Given the description of an element on the screen output the (x, y) to click on. 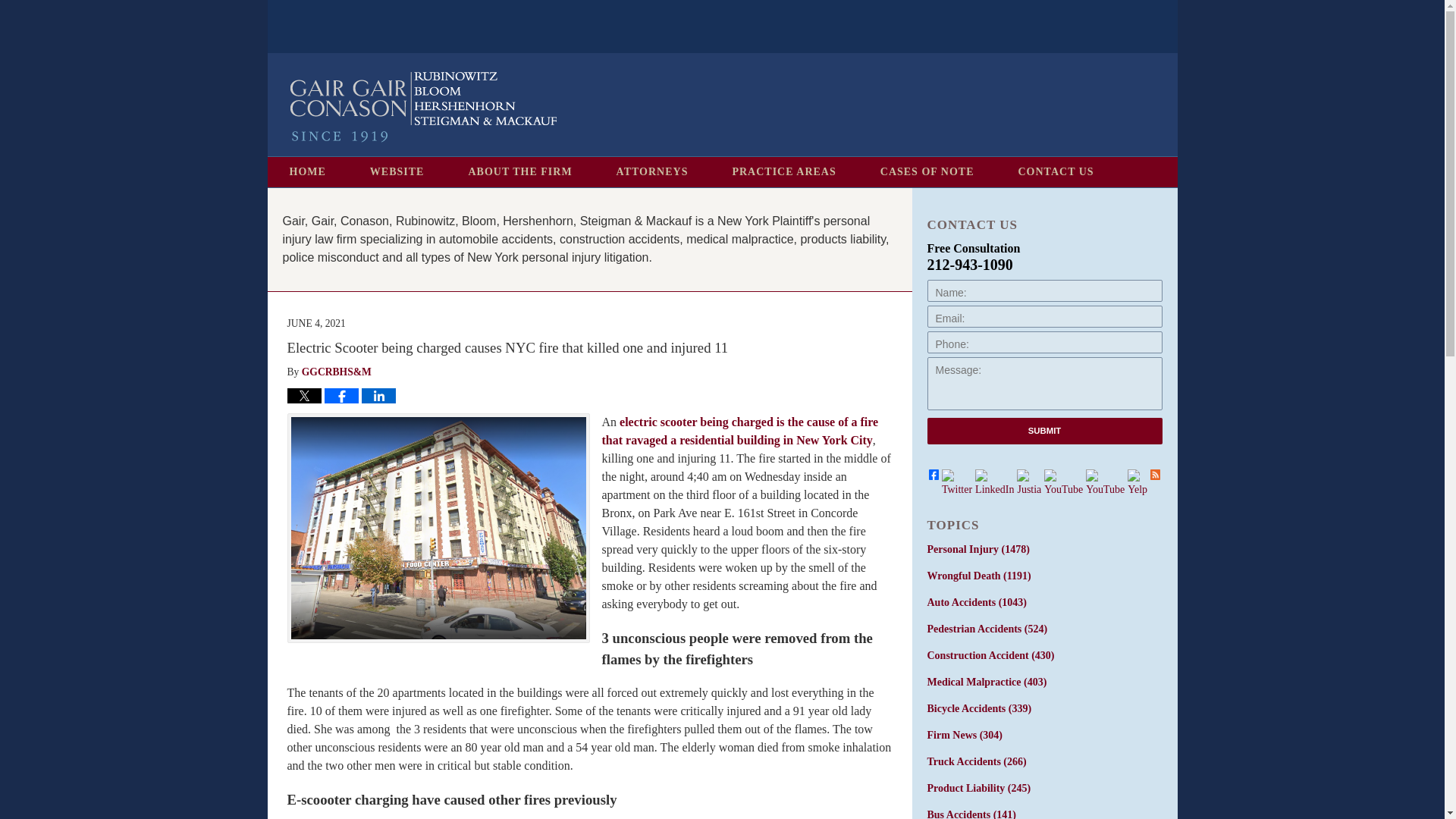
WEBSITE (396, 172)
HOME (306, 172)
LinkedIn (994, 483)
Twitter (957, 483)
ATTORNEYS (652, 172)
PRACTICE AREAS (783, 172)
New York Personal Injury Attorneys Blog (422, 107)
CASES OF NOTE (927, 172)
ABOUT THE FIRM (519, 172)
SUBMIT (1043, 430)
Twitter (957, 483)
Please enter a valid phone number. (1043, 341)
CONTACT US (1055, 172)
Facebook (932, 474)
